Given the description of an element on the screen output the (x, y) to click on. 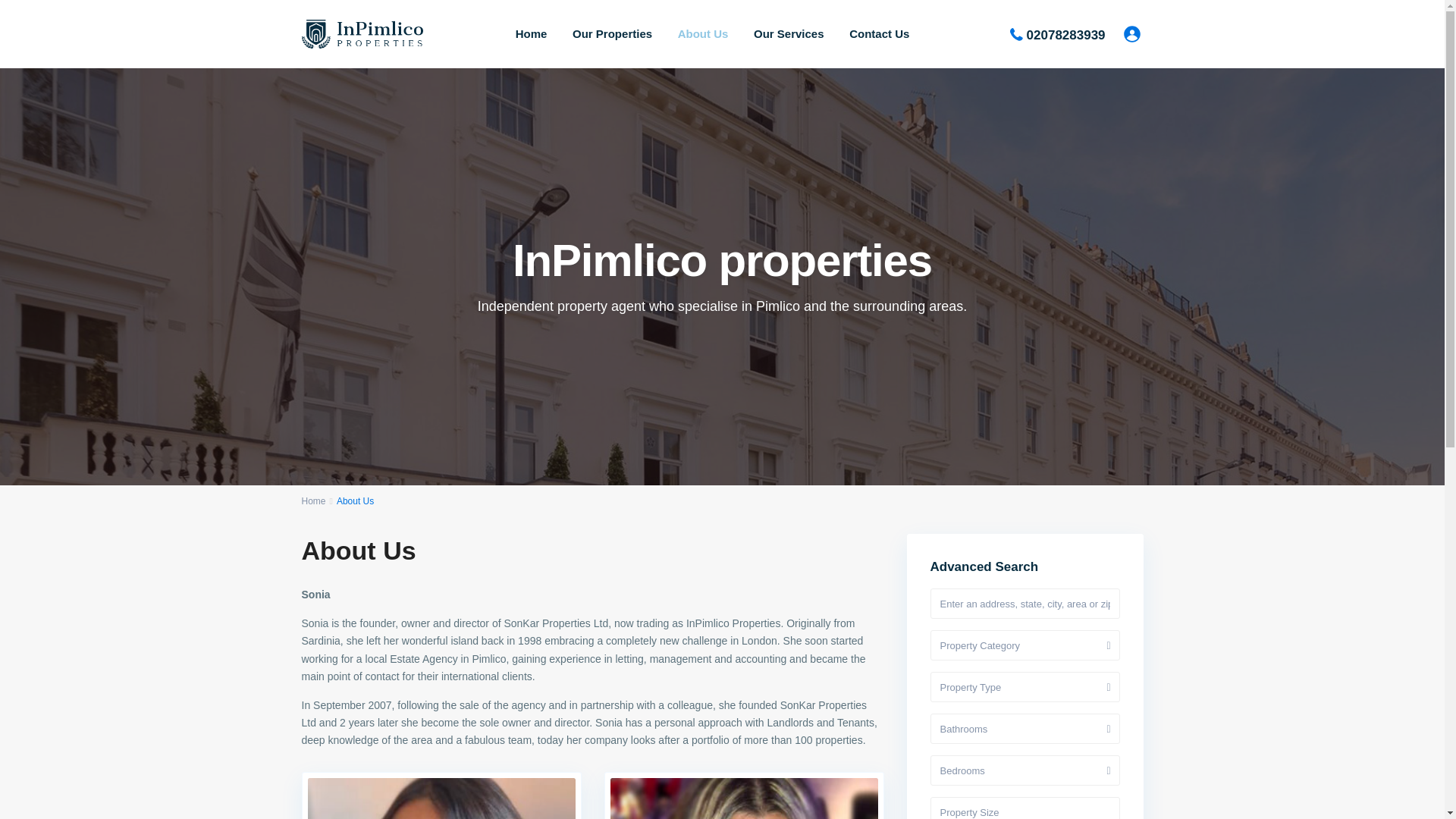
Our Properties (611, 33)
Contact Us (879, 33)
02078283939 (1065, 34)
Our Services (788, 33)
About Us (702, 33)
Home (313, 501)
